Given the description of an element on the screen output the (x, y) to click on. 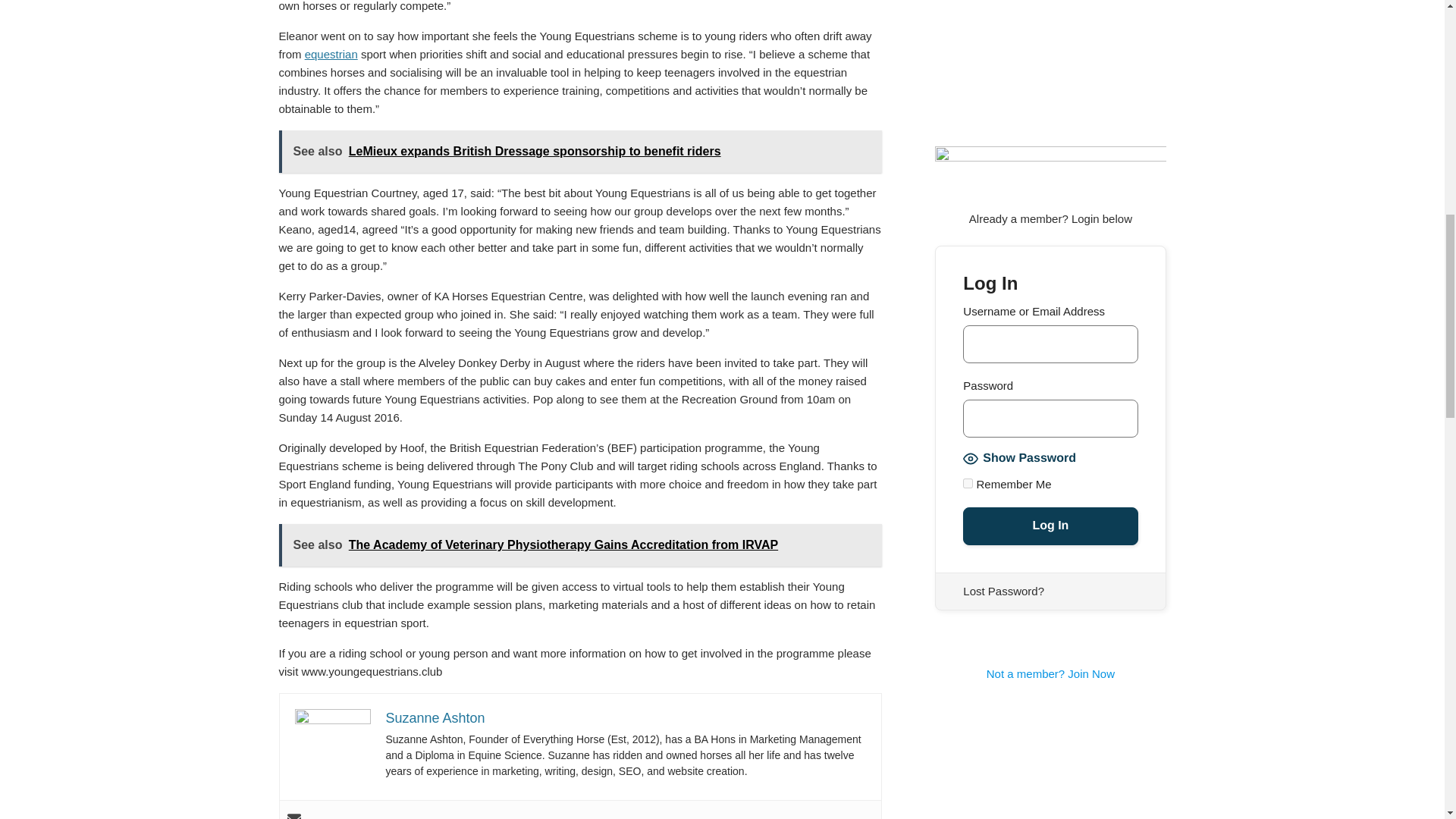
forever (967, 483)
equestrian (331, 53)
User email (292, 815)
Log In (1049, 525)
